Given the description of an element on the screen output the (x, y) to click on. 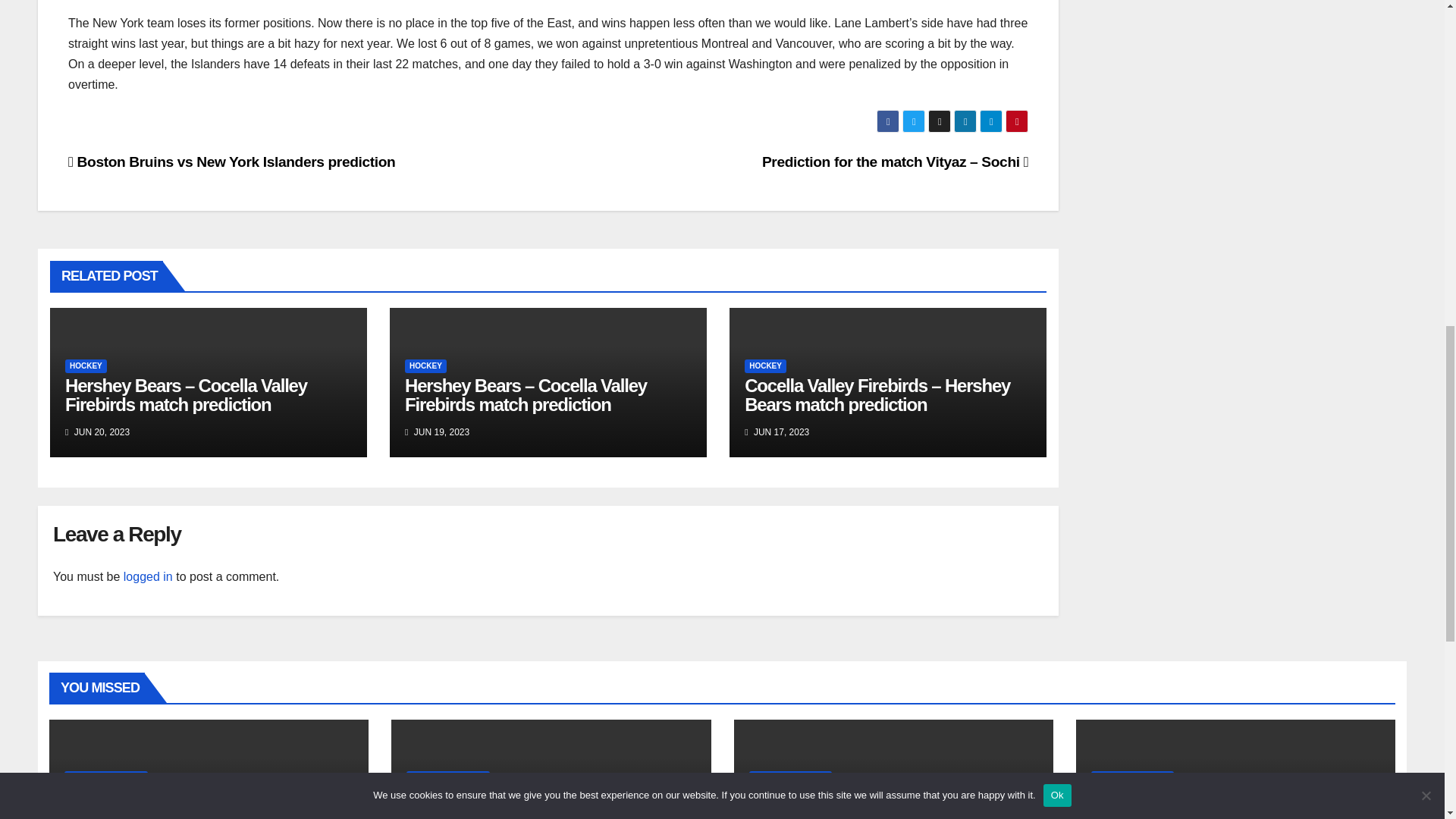
HOCKEY (85, 366)
Boston Bruins vs New York Islanders prediction (231, 161)
HOCKEY (765, 366)
HOCKEY (425, 366)
logged in (148, 576)
